Given the description of an element on the screen output the (x, y) to click on. 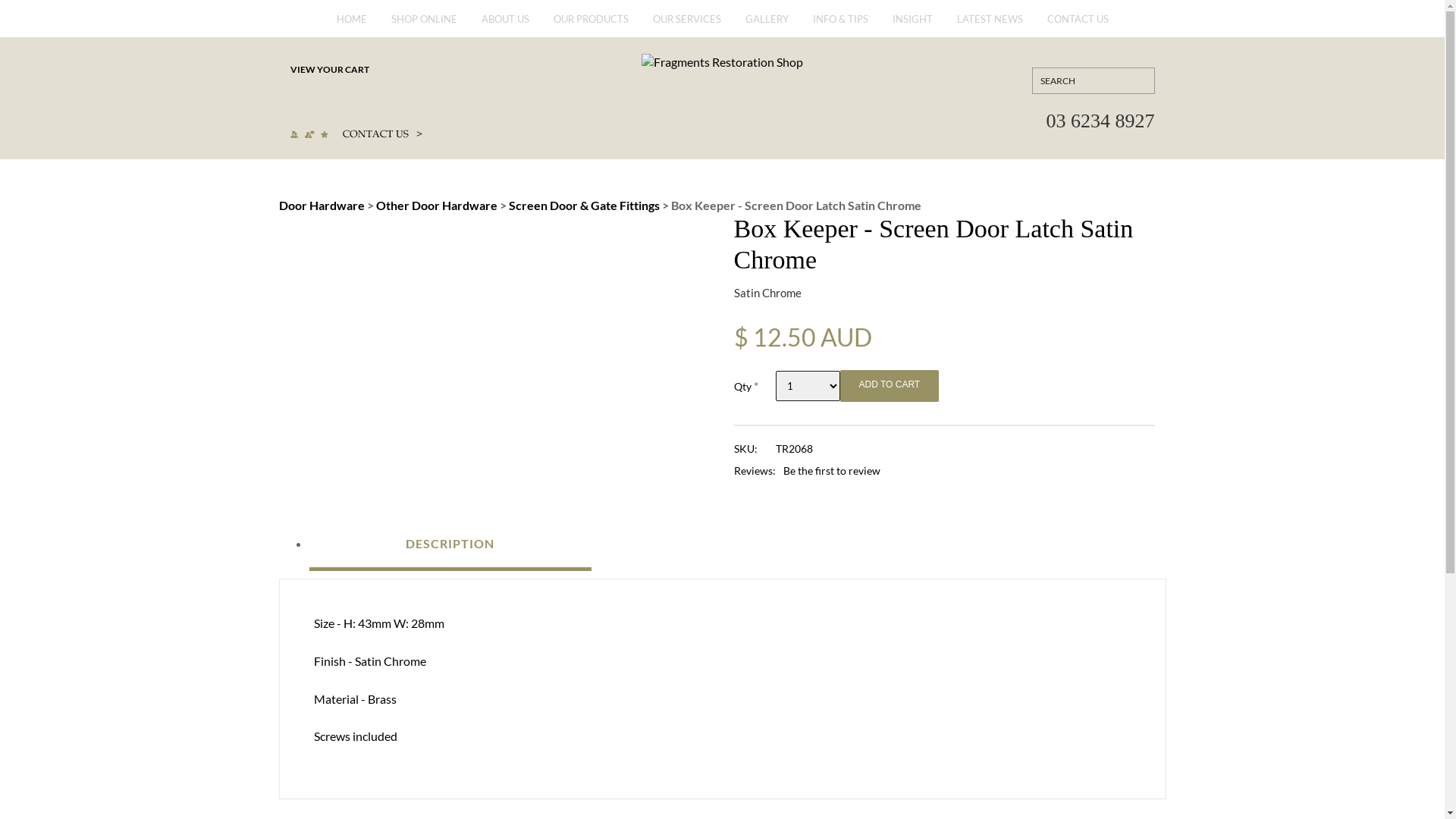
SHOP ONLINE Element type: text (423, 25)
INSIGHT Element type: text (912, 25)
DESCRIPTION Element type: text (449, 543)
houzz Element type: text (356, 99)
VIEW YOUR CART Element type: text (376, 69)
Screen Door & Gate Fittings Element type: text (583, 204)
03 6234 8927 Element type: text (1100, 113)
ADD TO CART Element type: text (889, 385)
LATEST NEWS Element type: text (988, 25)
INFO & TIPS Element type: text (839, 25)
facebook Element type: text (297, 99)
Be the first to review Element type: text (830, 470)
instagram Element type: text (337, 99)
ABOUT US Element type: text (505, 25)
pinterest Element type: text (317, 99)
Fragments Restoration Shop Element type: hover (722, 60)
GALLERY Element type: text (766, 25)
Submit Element type: text (1135, 80)
OUR SERVICES Element type: text (686, 25)
Other Door Hardware Element type: text (437, 204)
OUR PRODUCTS Element type: text (590, 25)
Door Hardware Element type: text (323, 204)
CONTACT US Element type: text (1077, 25)
HOME Element type: text (351, 25)
